Given the description of an element on the screen output the (x, y) to click on. 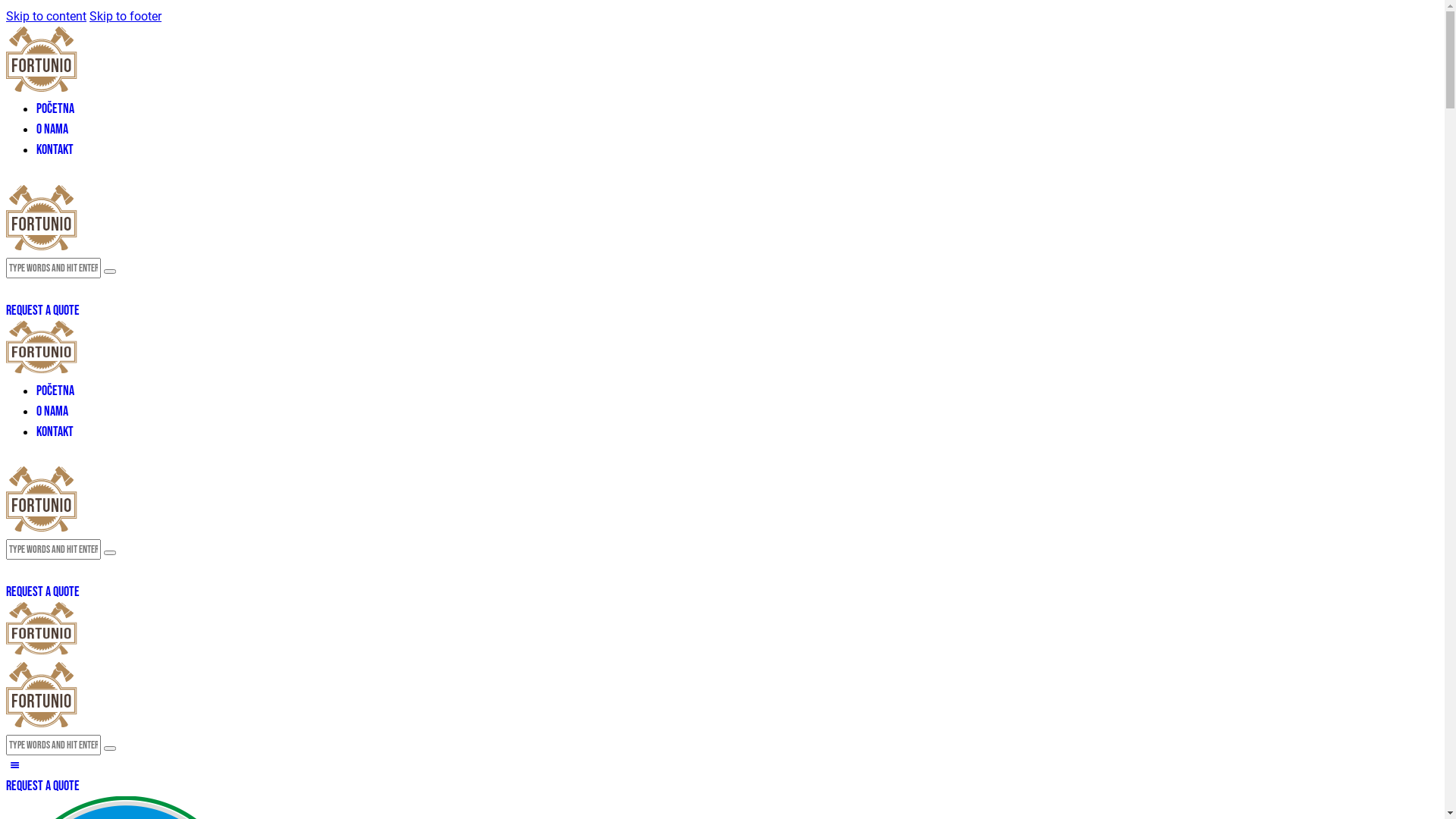
KONTAKT Element type: text (54, 149)
O NAMA Element type: text (52, 129)
O NAMA Element type: text (52, 411)
REQUEST A QUOTE Element type: text (42, 310)
REQUEST A QUOTE Element type: text (42, 591)
REQUEST A QUOTE Element type: text (42, 785)
Skip to footer Element type: text (125, 16)
Skip to content Element type: text (46, 16)
KONTAKT Element type: text (54, 431)
